Given the description of an element on the screen output the (x, y) to click on. 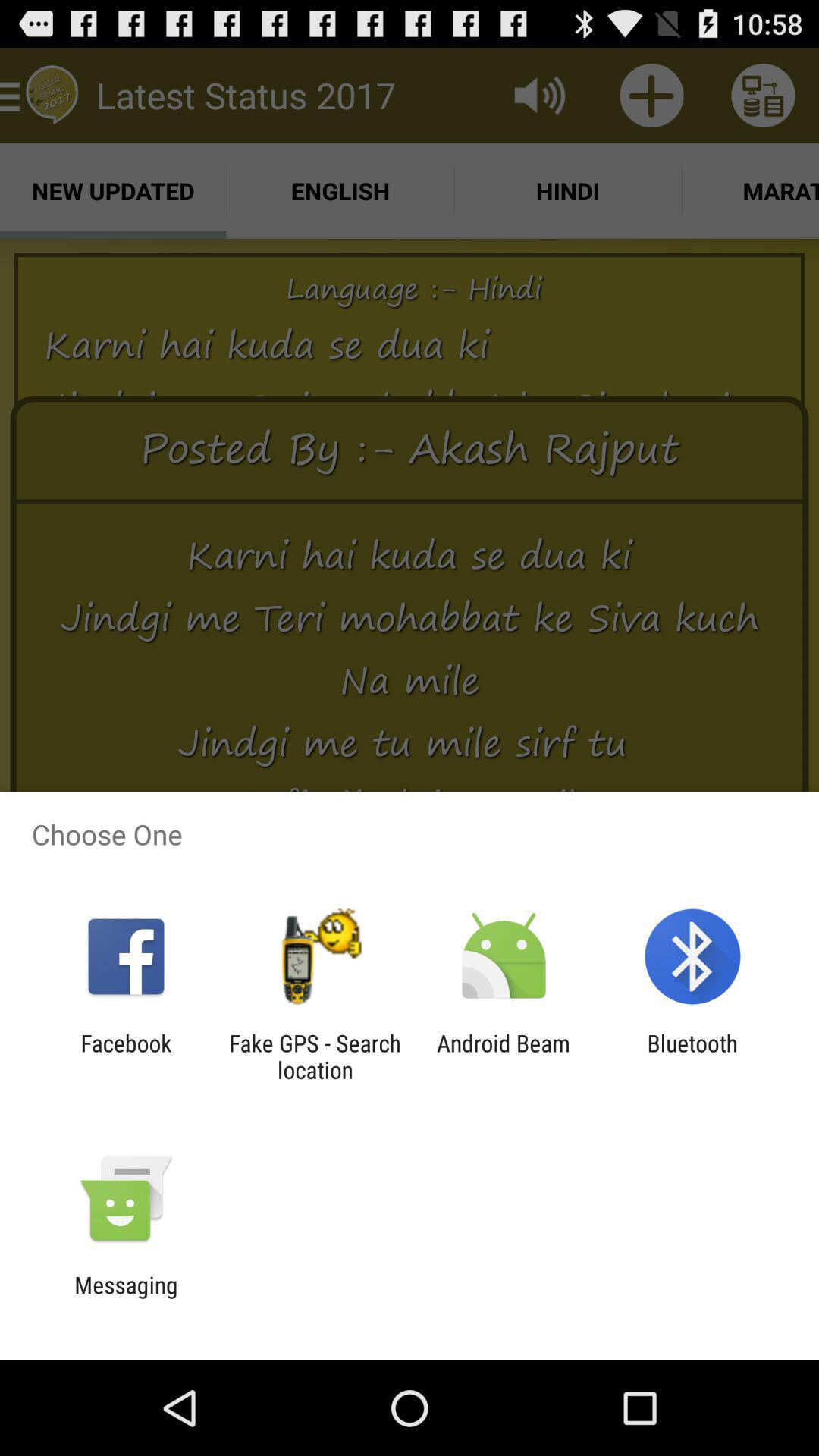
press android beam icon (503, 1056)
